Given the description of an element on the screen output the (x, y) to click on. 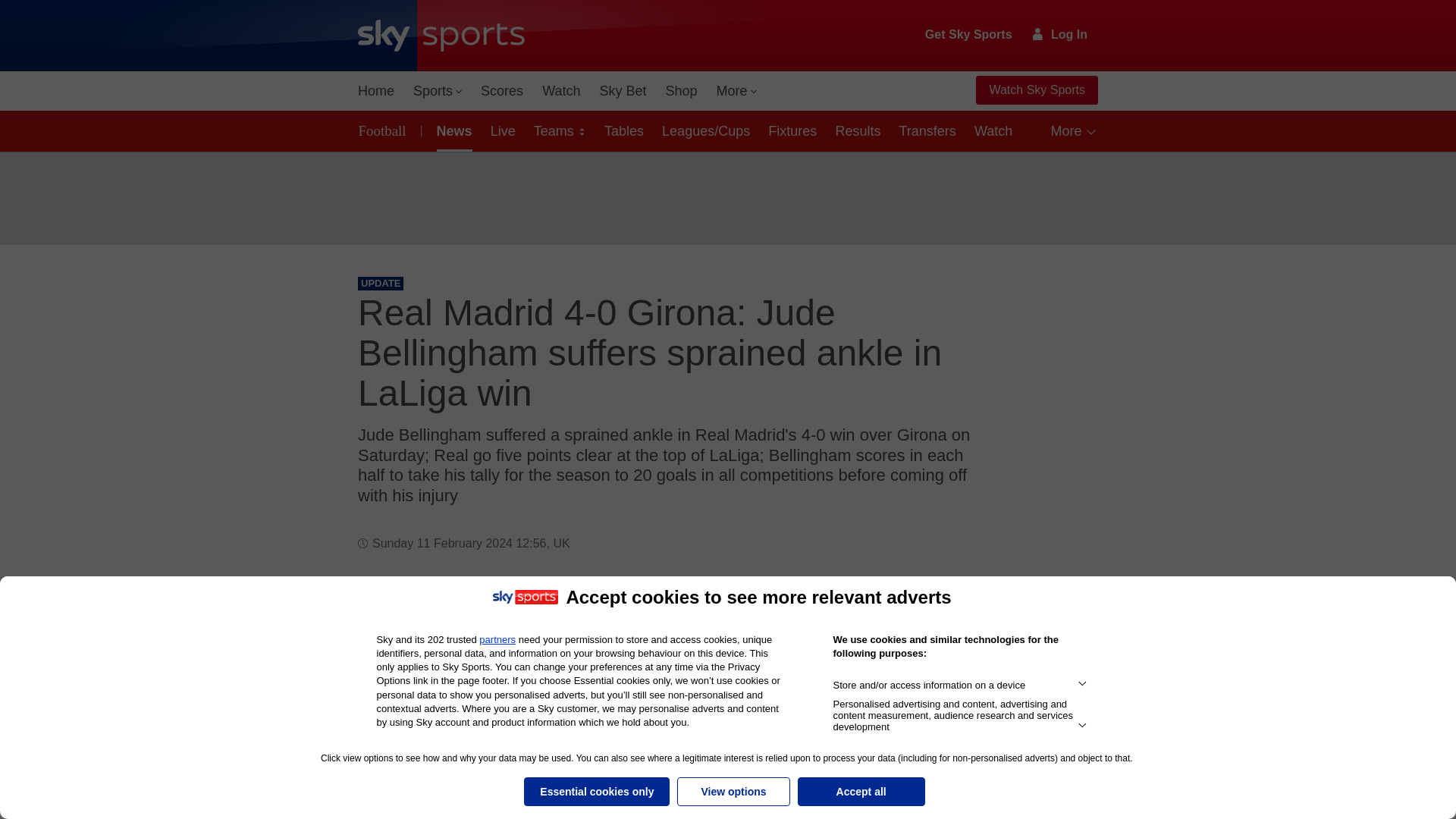
Watch Sky Sports (1036, 90)
Watch (561, 91)
Home (375, 91)
Sky Bet (622, 91)
Get Sky Sports (968, 34)
Football (385, 130)
More (736, 91)
News (451, 130)
Log In (1060, 33)
Scores (502, 91)
